Given the description of an element on the screen output the (x, y) to click on. 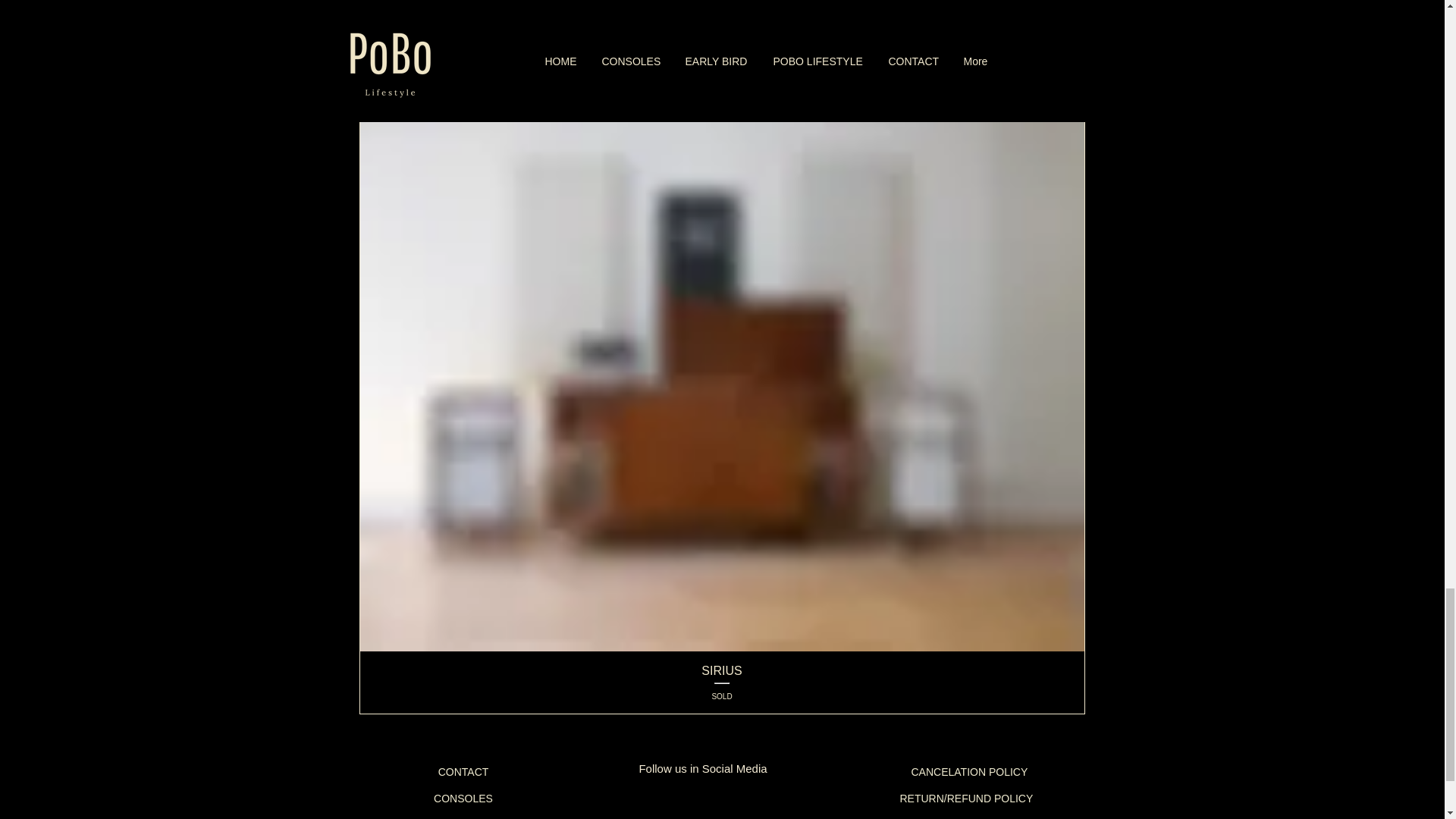
CONTACT (722, 682)
CONSOLES (462, 772)
FAQ (462, 798)
